Given the description of an element on the screen output the (x, y) to click on. 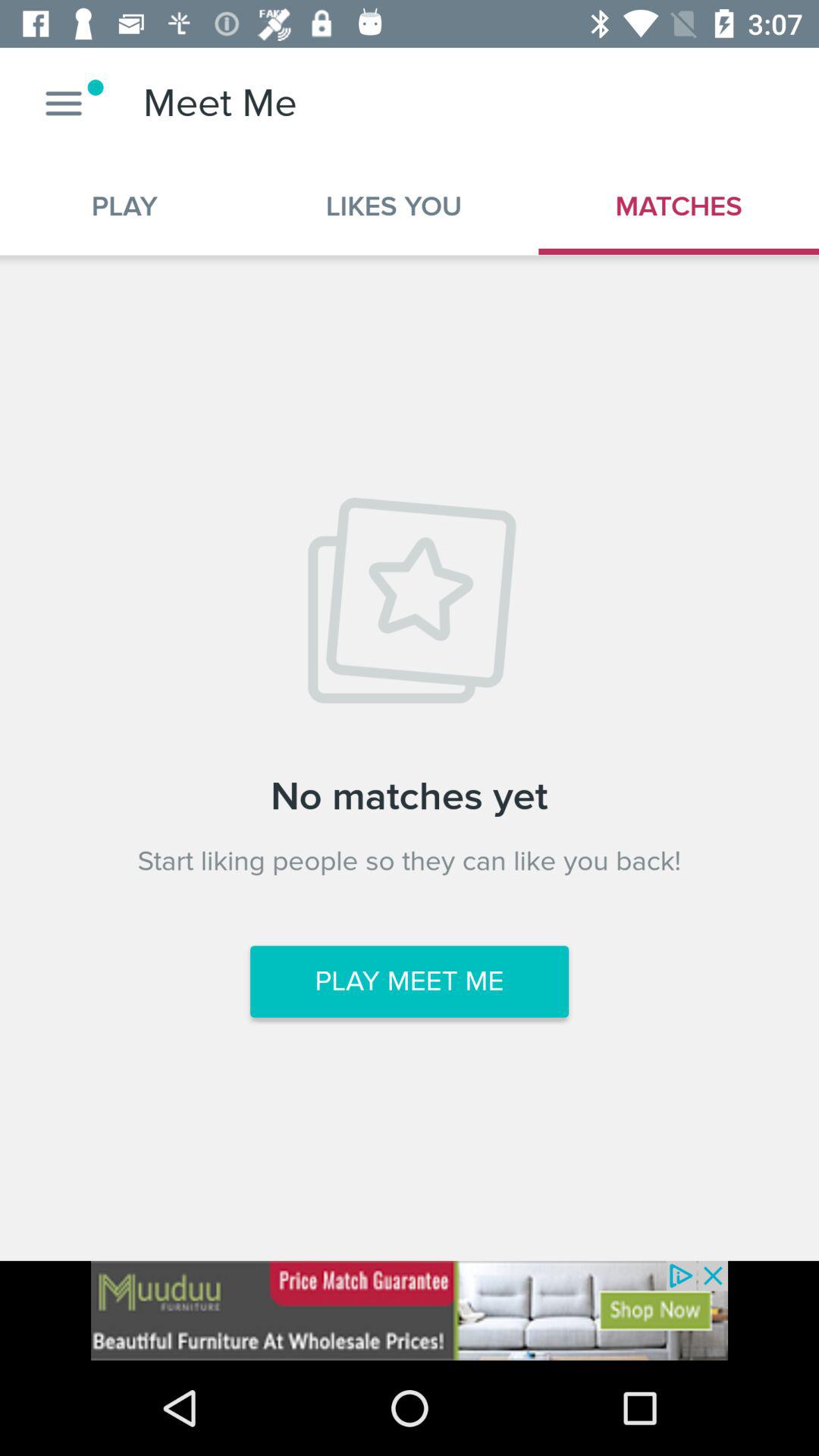
advertisement (409, 1310)
